Given the description of an element on the screen output the (x, y) to click on. 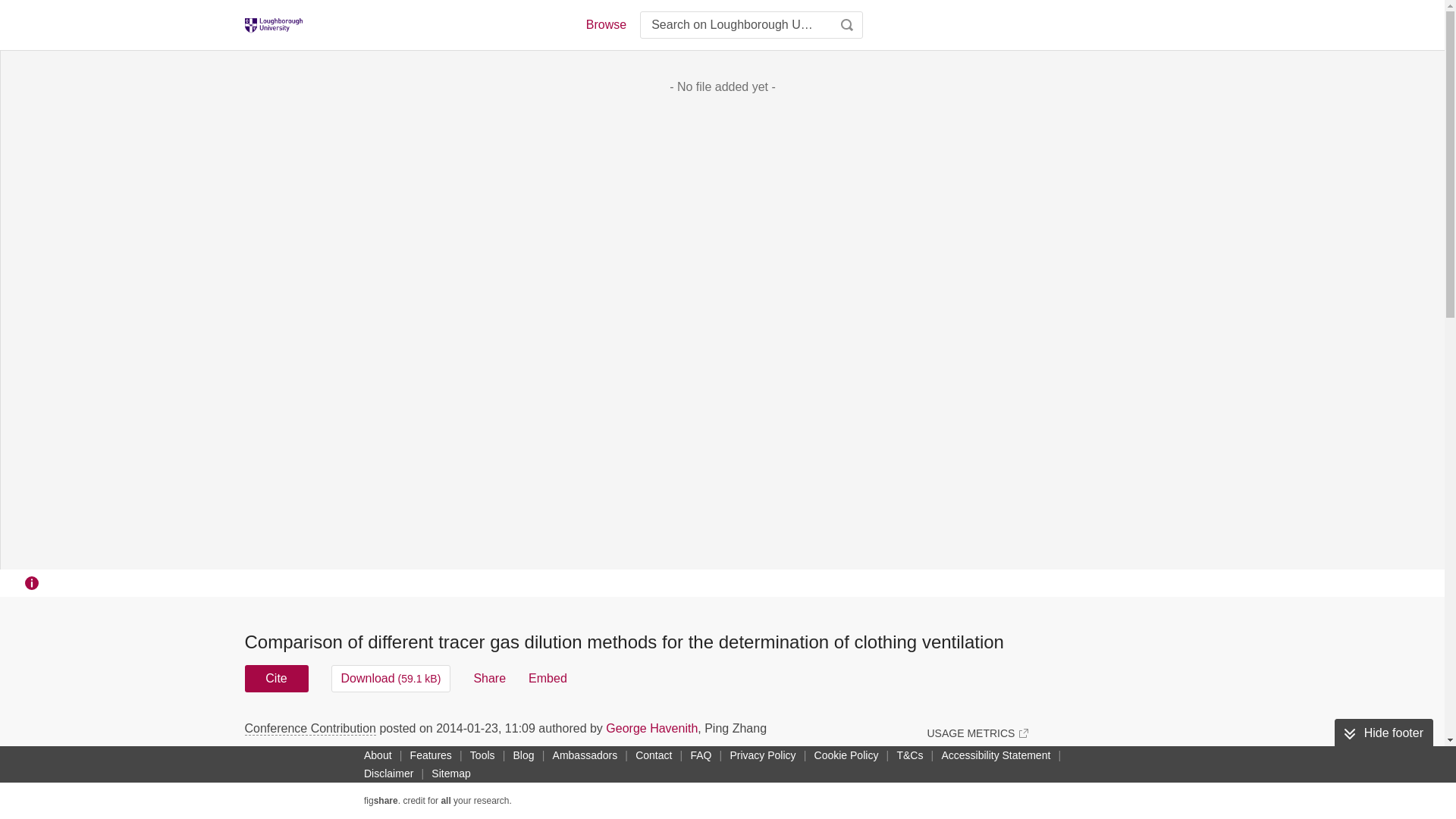
George Havenith (651, 727)
Cookie Policy (846, 755)
Contact (653, 755)
FAQ (700, 755)
Blog (523, 755)
Features (431, 755)
Tools (482, 755)
Hide footer (1383, 733)
Sitemap (450, 773)
Embed (547, 678)
